Given the description of an element on the screen output the (x, y) to click on. 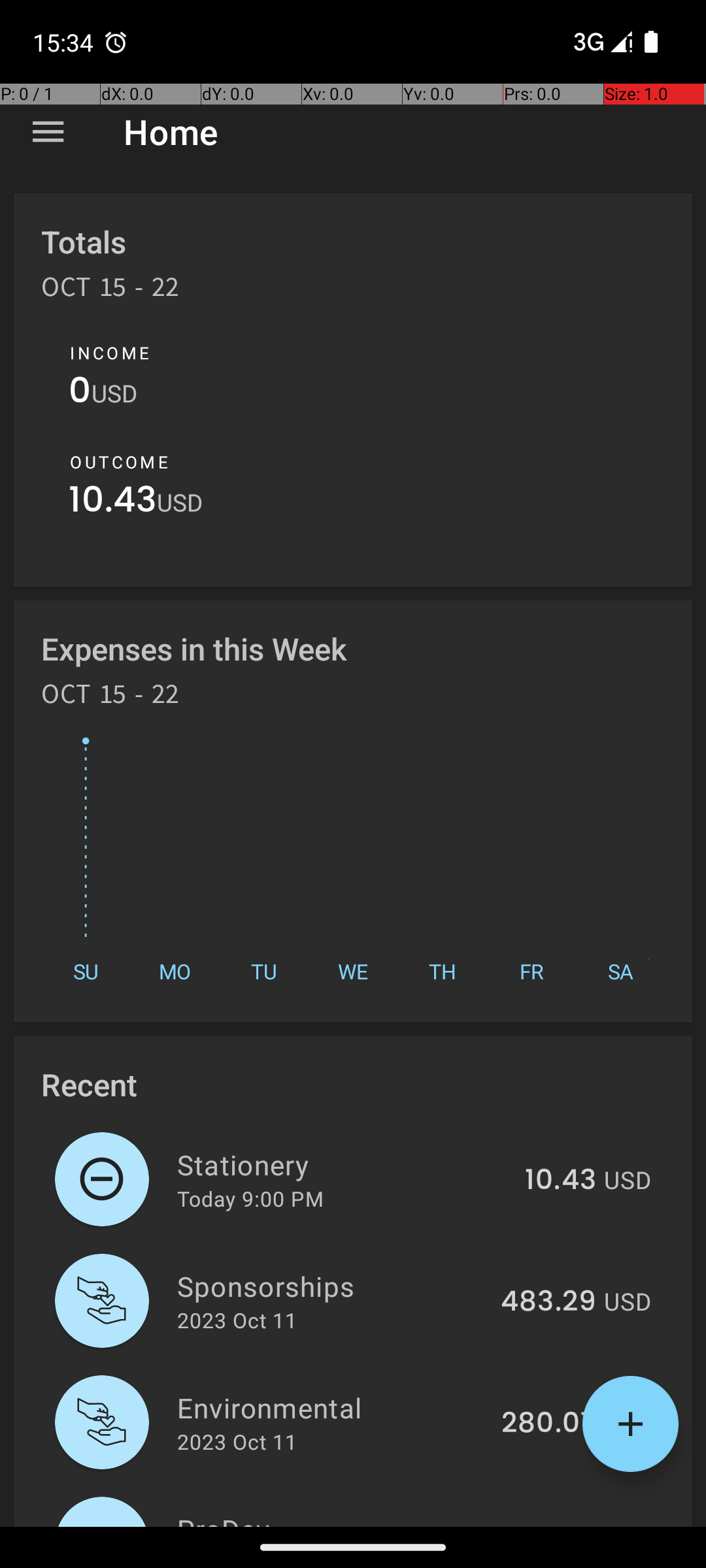
10.43 Element type: android.widget.TextView (112, 502)
Sponsorships Element type: android.widget.TextView (331, 1285)
483.29 Element type: android.widget.TextView (548, 1301)
Environmental Element type: android.widget.TextView (331, 1407)
280.07 Element type: android.widget.TextView (548, 1423)
473.43 Element type: android.widget.TextView (548, 1524)
